Given the description of an element on the screen output the (x, y) to click on. 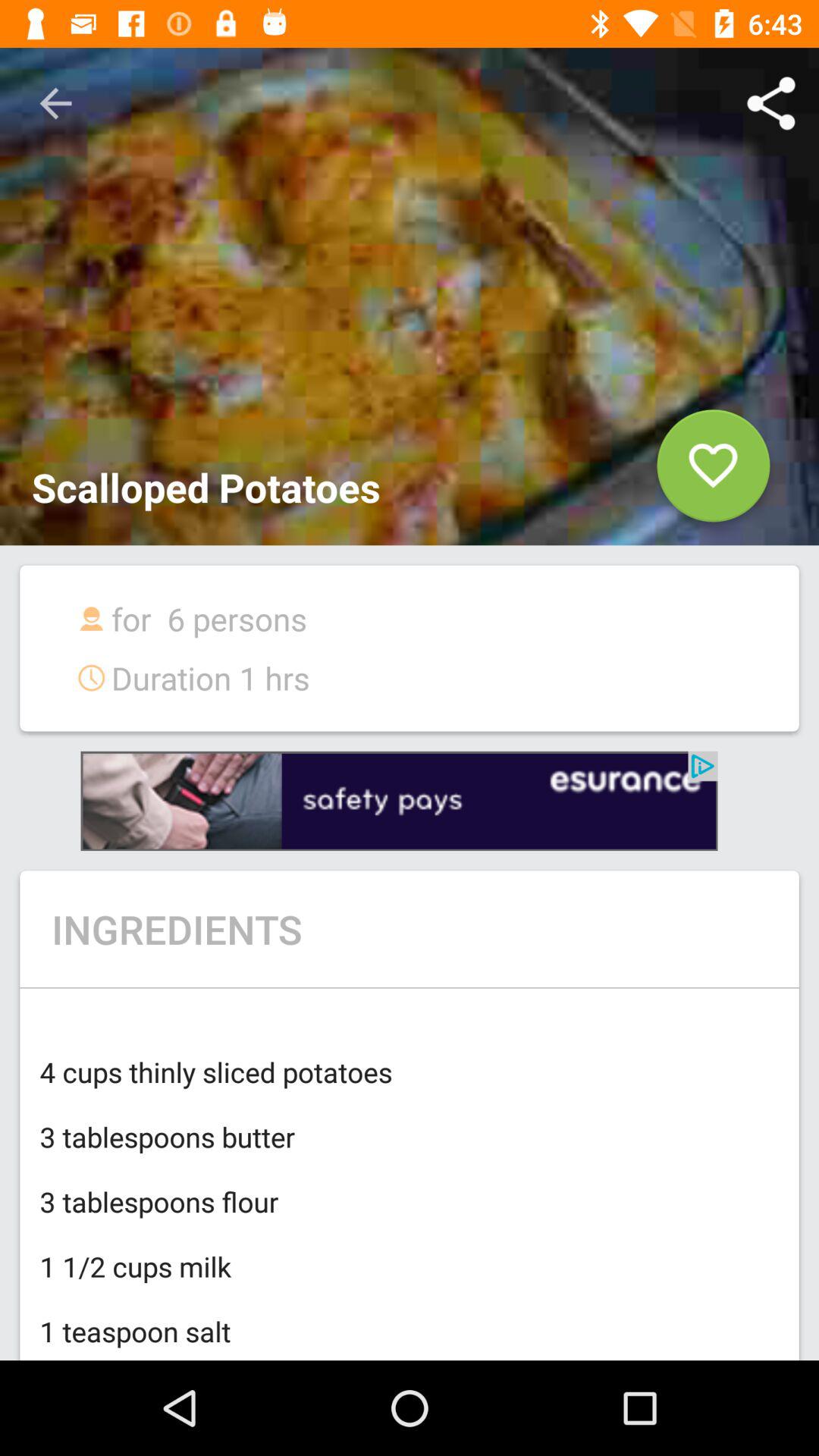
advertisement link (398, 800)
